Given the description of an element on the screen output the (x, y) to click on. 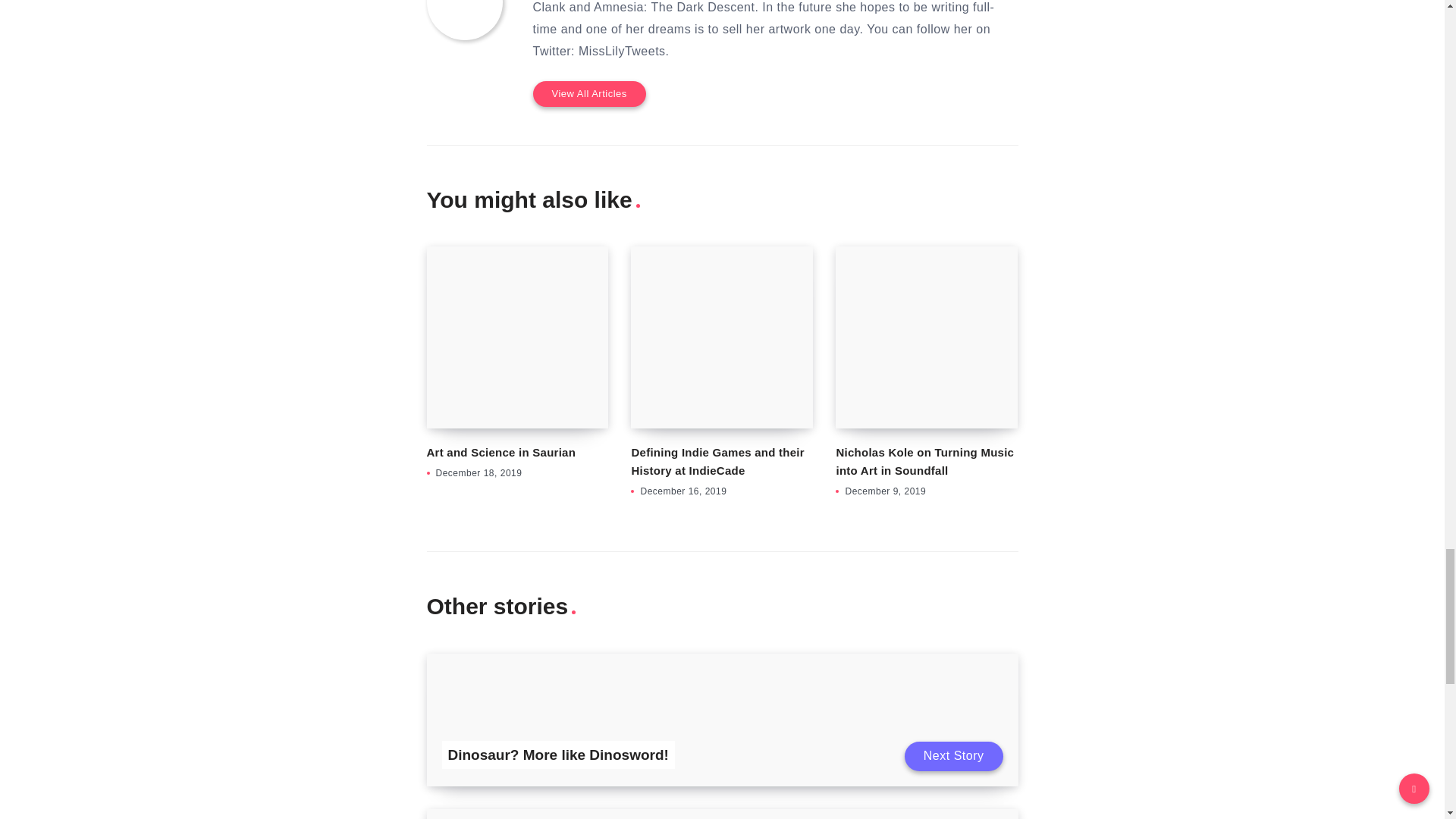
View All Articles (588, 93)
Defining Indie Games and their History at IndieCade (716, 460)
Art and Science in Saurian (500, 451)
